Given the description of an element on the screen output the (x, y) to click on. 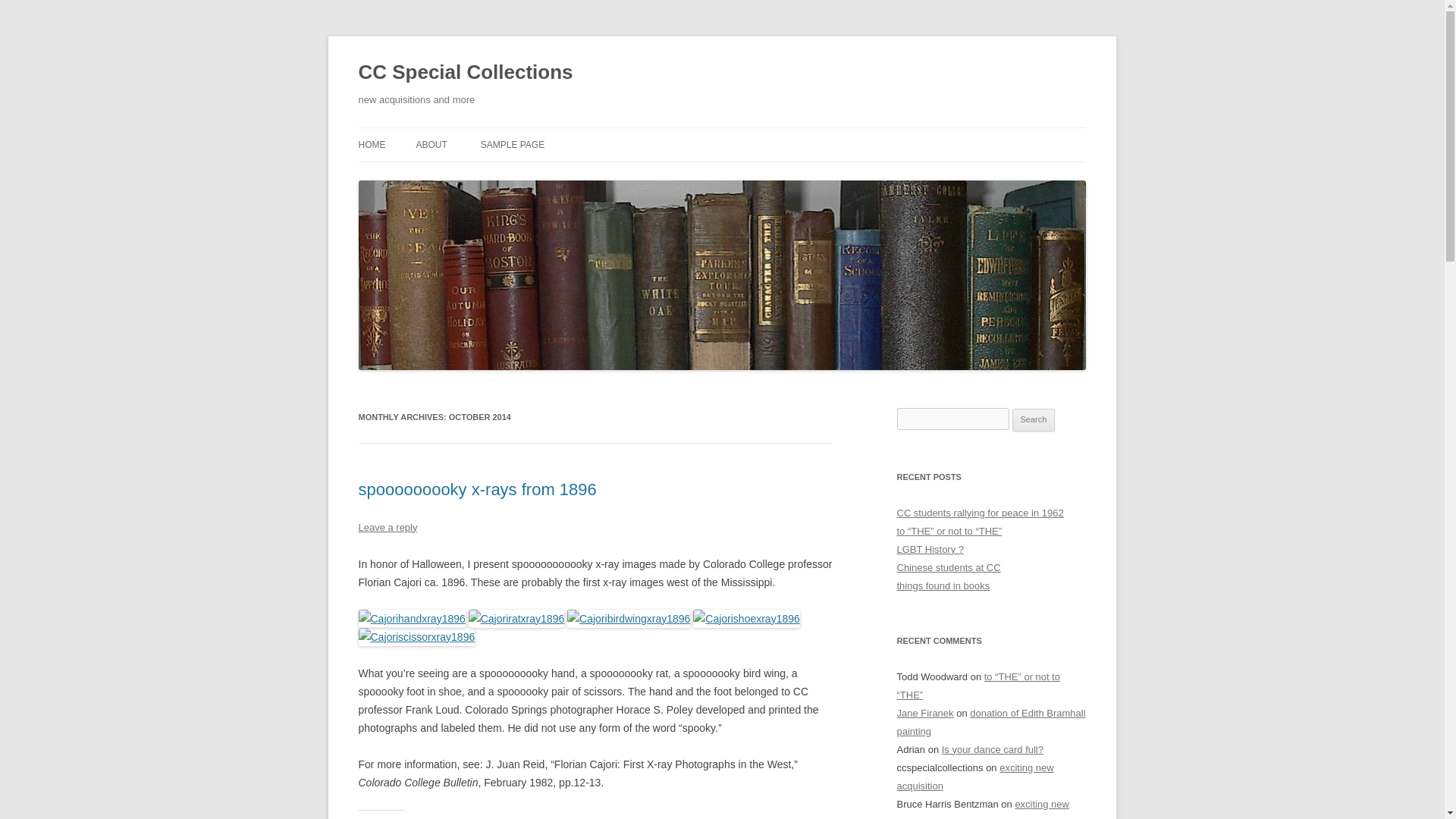
ABOUT (430, 144)
Cajorishoexray1896 (746, 618)
LGBT History ? (929, 549)
spooooooooky x-rays from 1896 (476, 488)
SAMPLE PAGE (512, 144)
Chinese students at CC (948, 567)
Leave a reply (387, 527)
CC Special Collections (465, 72)
Search (1033, 419)
Search (1033, 419)
Jane Firanek (924, 713)
things found in books (943, 585)
Cajorihandxray1896 (411, 618)
Cajoriscissorxray1896 (416, 637)
Cajoriratxray1896 (516, 618)
